Given the description of an element on the screen output the (x, y) to click on. 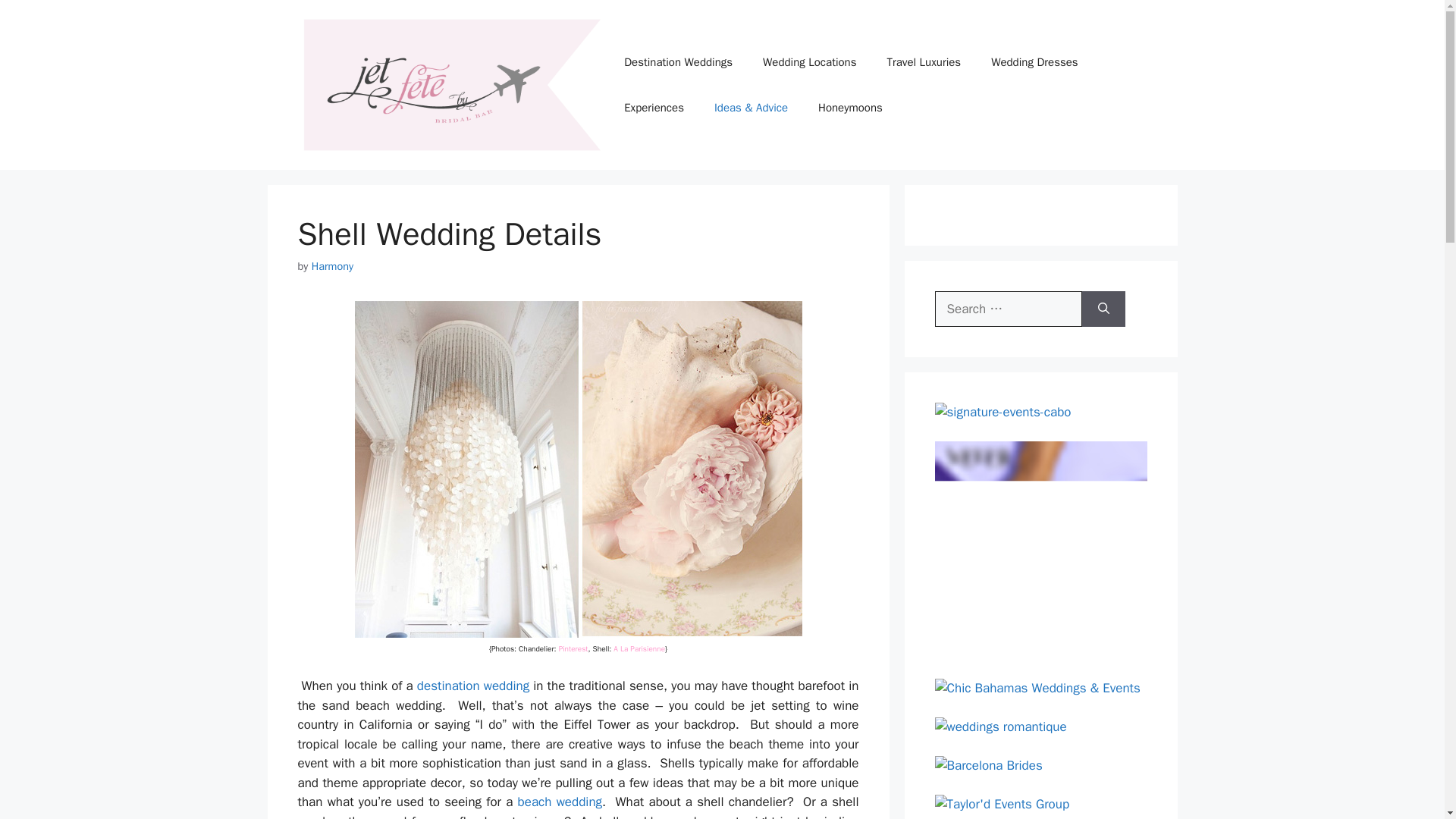
Harmony (332, 265)
Pinterest (573, 648)
Destination Weddings (678, 62)
Wedding Dresses (1034, 62)
beach wedding (560, 801)
Search for: (1007, 309)
A La Parisienne (638, 648)
Same-Sex Destination Wedding in Mexico (560, 801)
Honeymoons (850, 107)
View all posts by Harmony (332, 265)
Travel Luxuries (922, 62)
Experiences (653, 107)
Wedding Locations (809, 62)
destination wedding (472, 685)
